Given the description of an element on the screen output the (x, y) to click on. 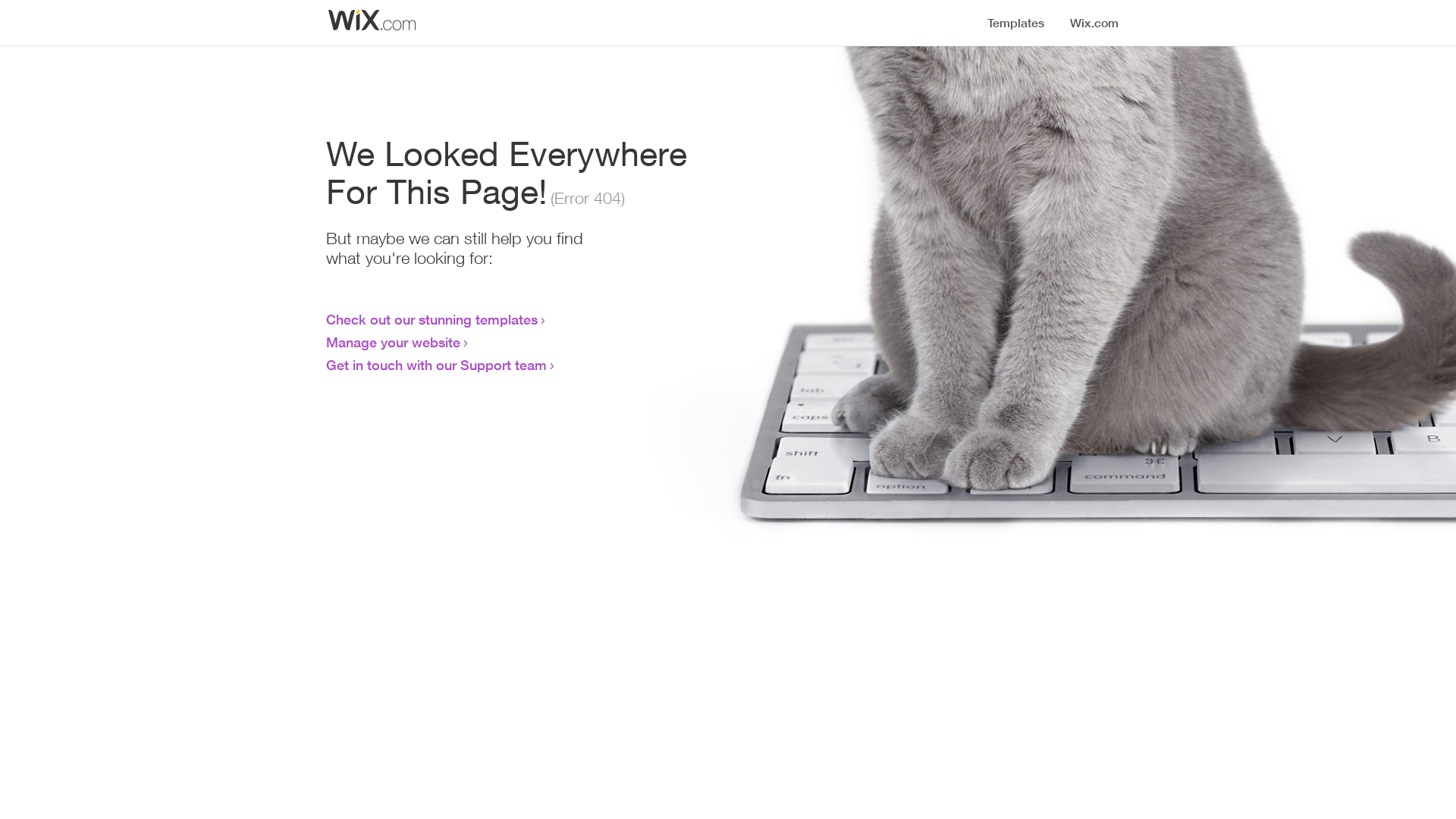
Manage your website Element type: text (393, 341)
Check out our stunning templates Element type: text (431, 318)
Get in touch with our Support team Element type: text (436, 364)
